Given the description of an element on the screen output the (x, y) to click on. 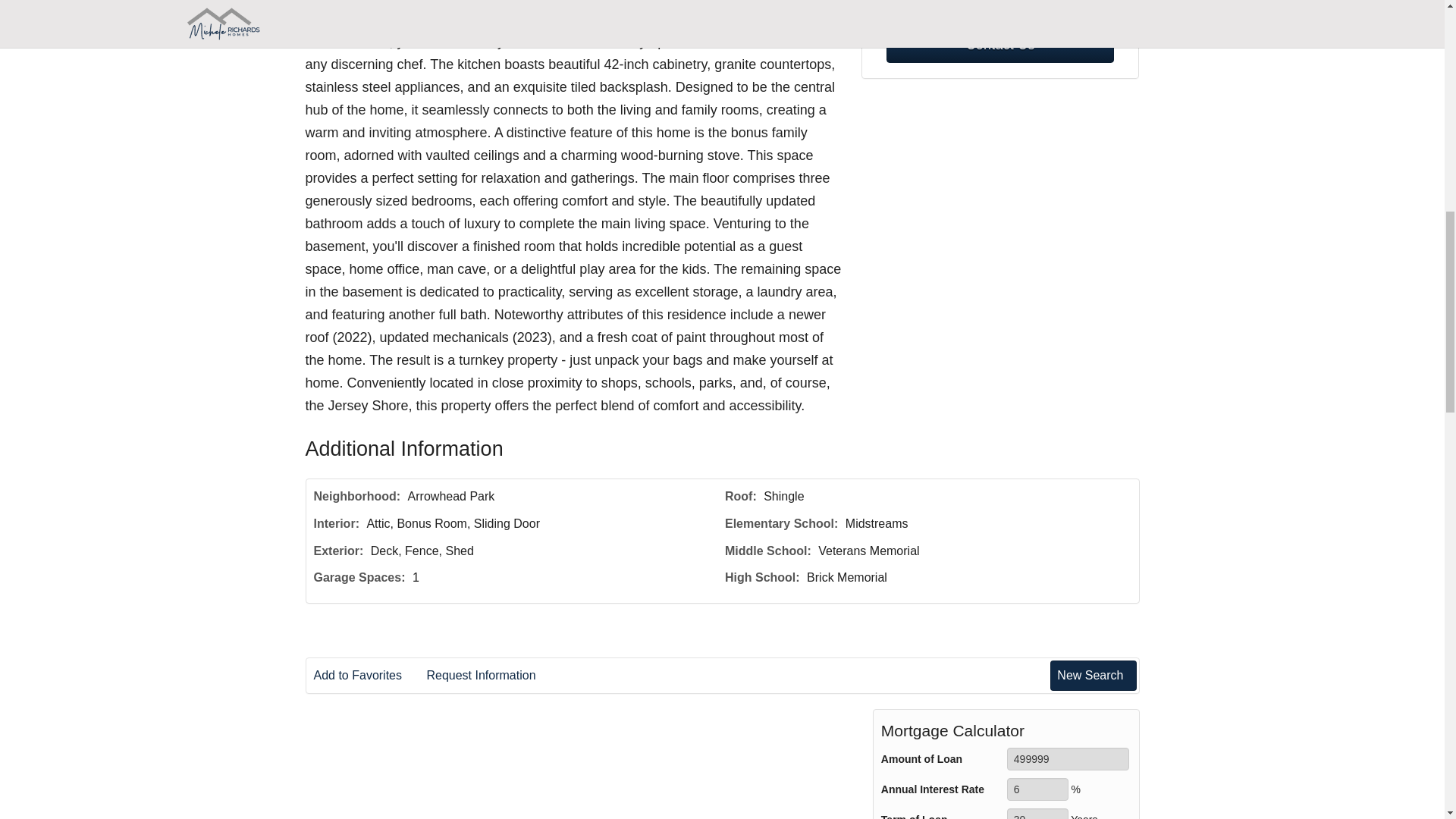
30 (1037, 813)
6 (1037, 789)
499999 (1068, 758)
